Given the description of an element on the screen output the (x, y) to click on. 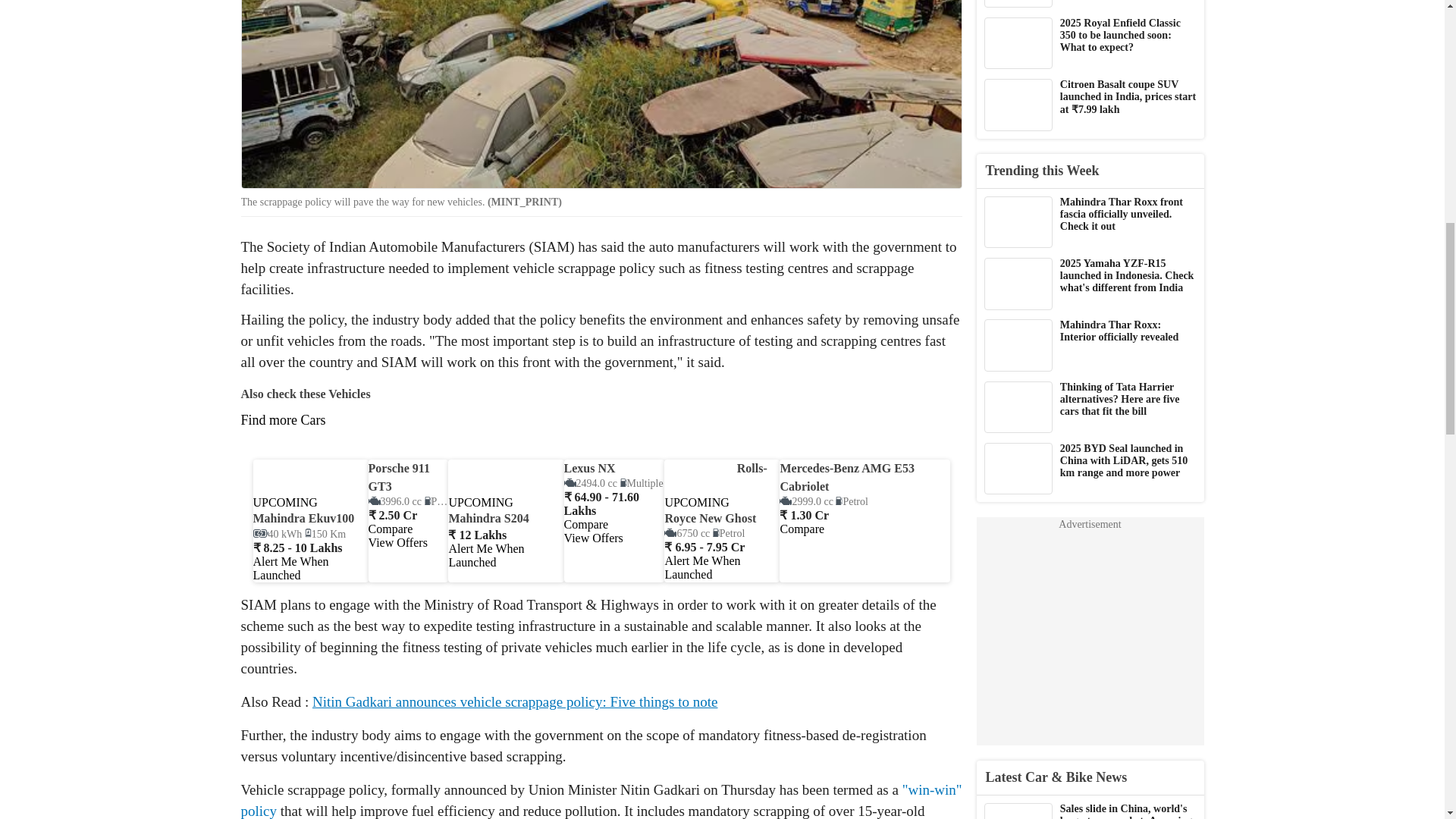
FuelType (641, 482)
Engine (395, 501)
Engine (590, 482)
FuelType (728, 532)
BatteryCapacity (277, 533)
Engine (805, 501)
FuelType (851, 501)
Range (325, 533)
FuelType (441, 501)
Engine (686, 532)
